Given the description of an element on the screen output the (x, y) to click on. 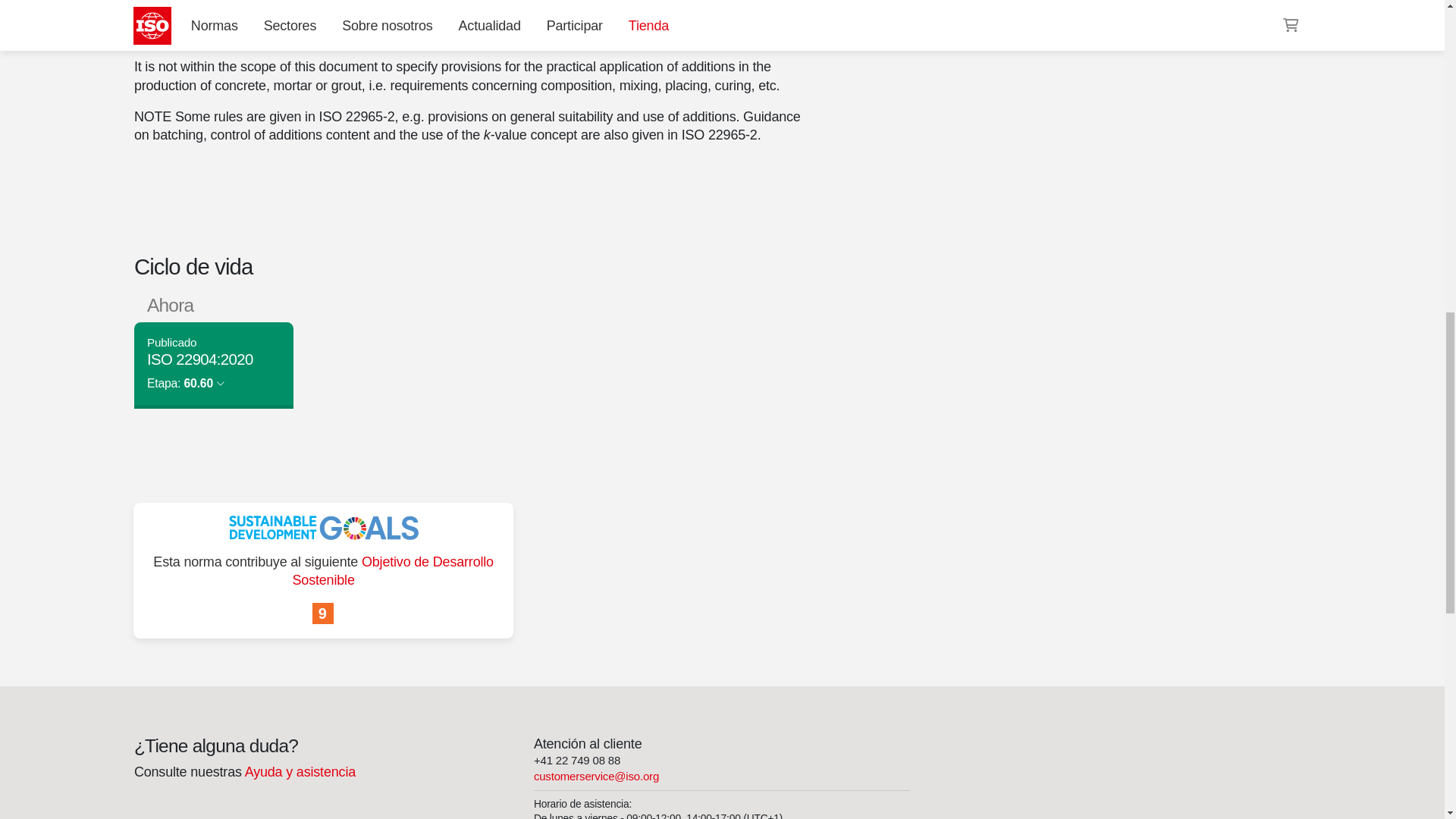
RSS (956, 6)
Industry, Innovation and Infrastructure (323, 613)
Etapa: 60.60 (185, 382)
